Given the description of an element on the screen output the (x, y) to click on. 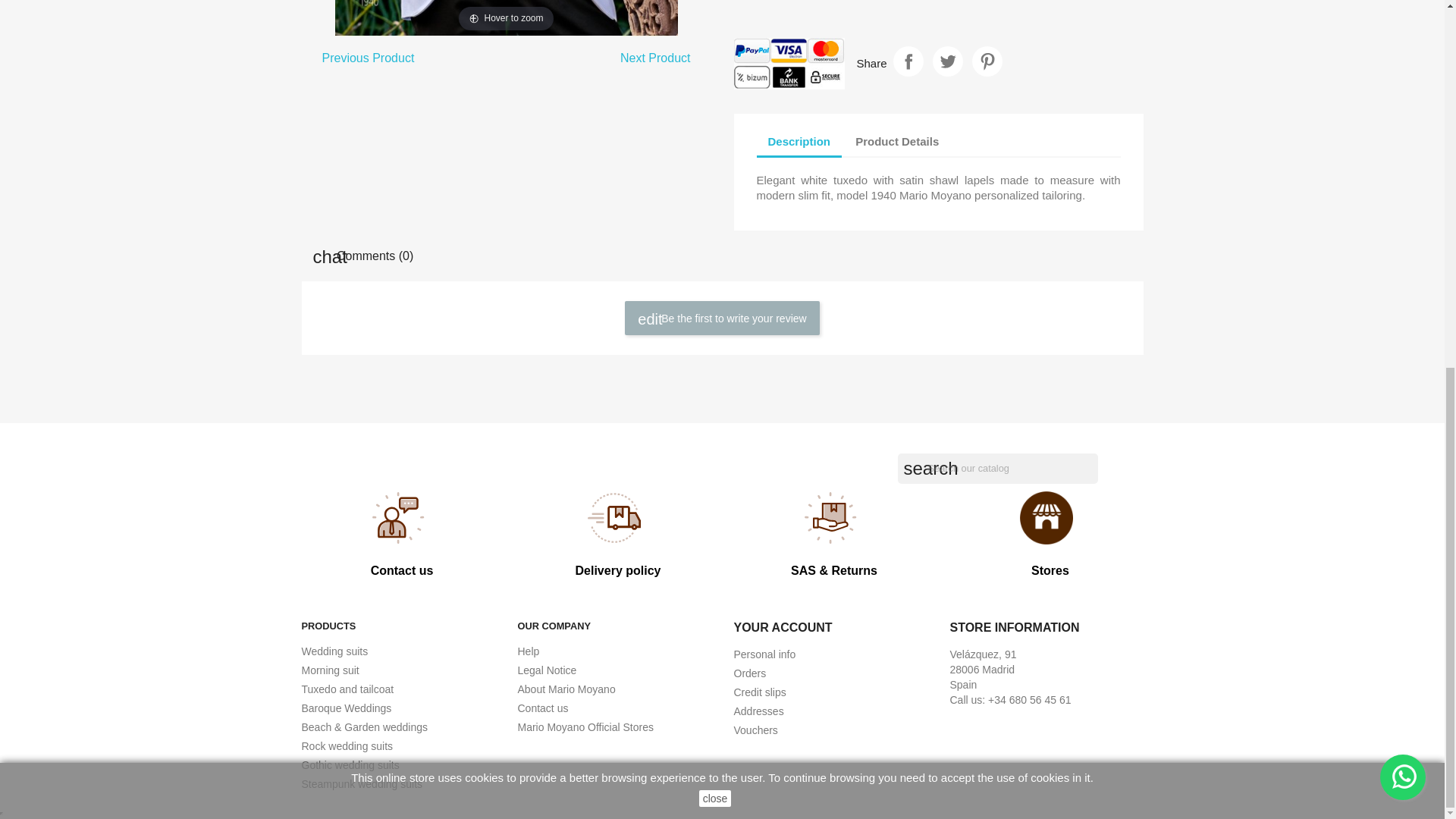
Next Product (655, 58)
Pinterest (987, 60)
Hover to zoom (506, 18)
Previous Product (368, 58)
Share (908, 60)
Share (908, 60)
Tweet (947, 60)
Tweet (947, 60)
Pinterest (987, 60)
